Given the description of an element on the screen output the (x, y) to click on. 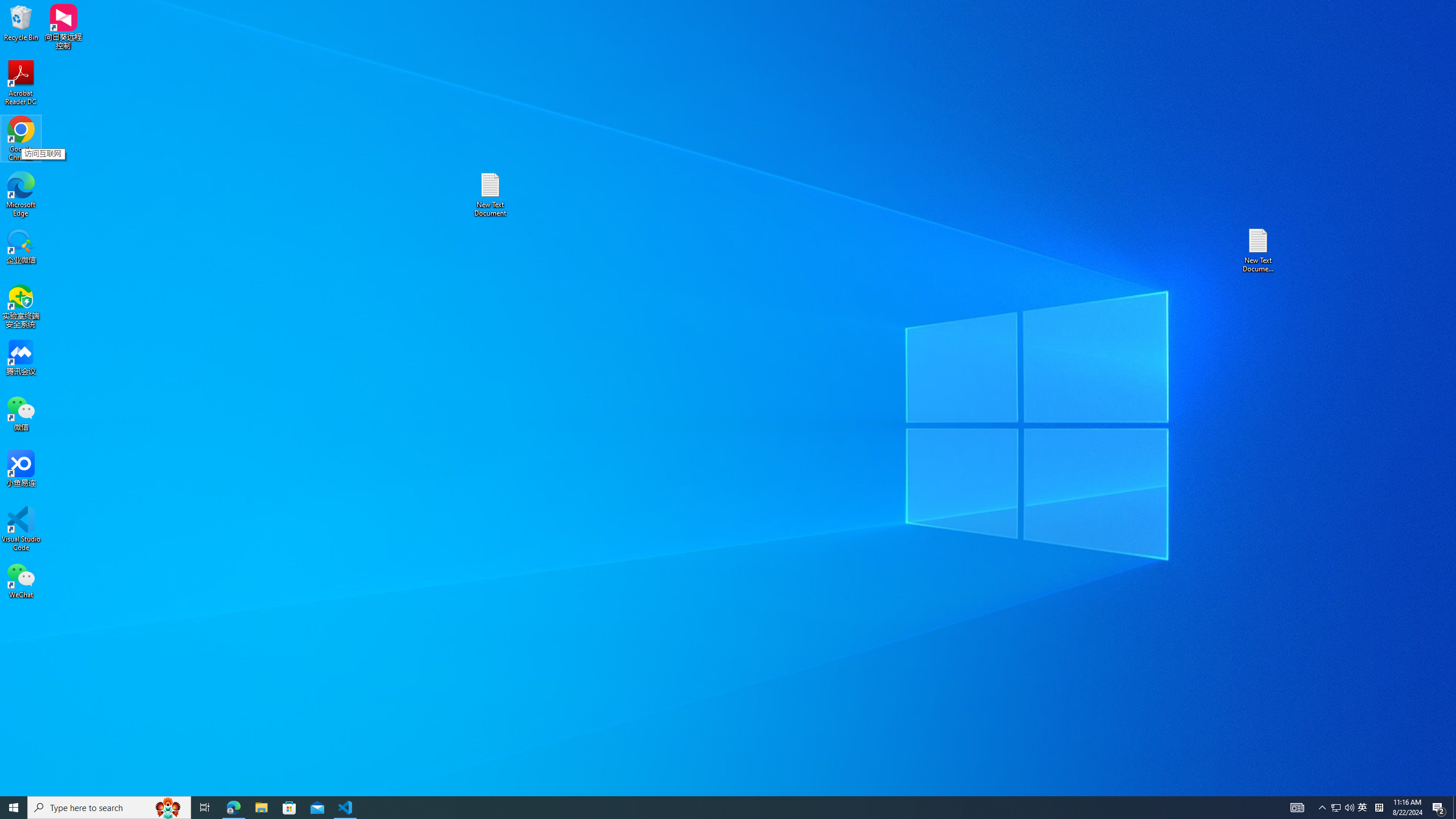
Search highlights icon opens search home window (167, 807)
Type here to search (1362, 807)
Notification Chevron (108, 807)
Task View (1335, 807)
Show desktop (1322, 807)
AutomationID: 4105 (204, 807)
Q2790: 100% (1454, 807)
Acrobat Reader DC (1297, 807)
Visual Studio Code (1349, 807)
